Given the description of an element on the screen output the (x, y) to click on. 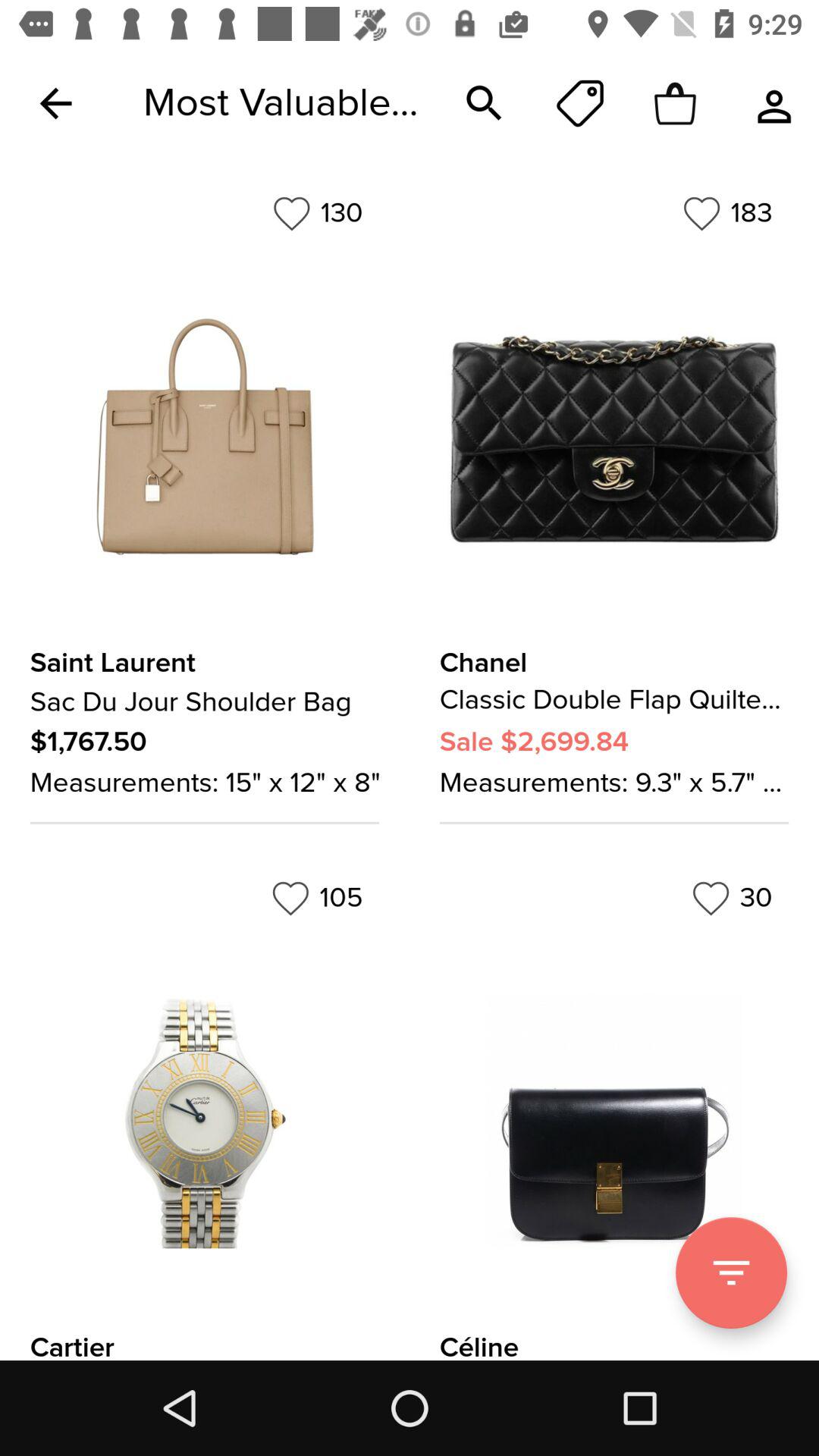
press the icon to the left of 30 item (317, 898)
